Given the description of an element on the screen output the (x, y) to click on. 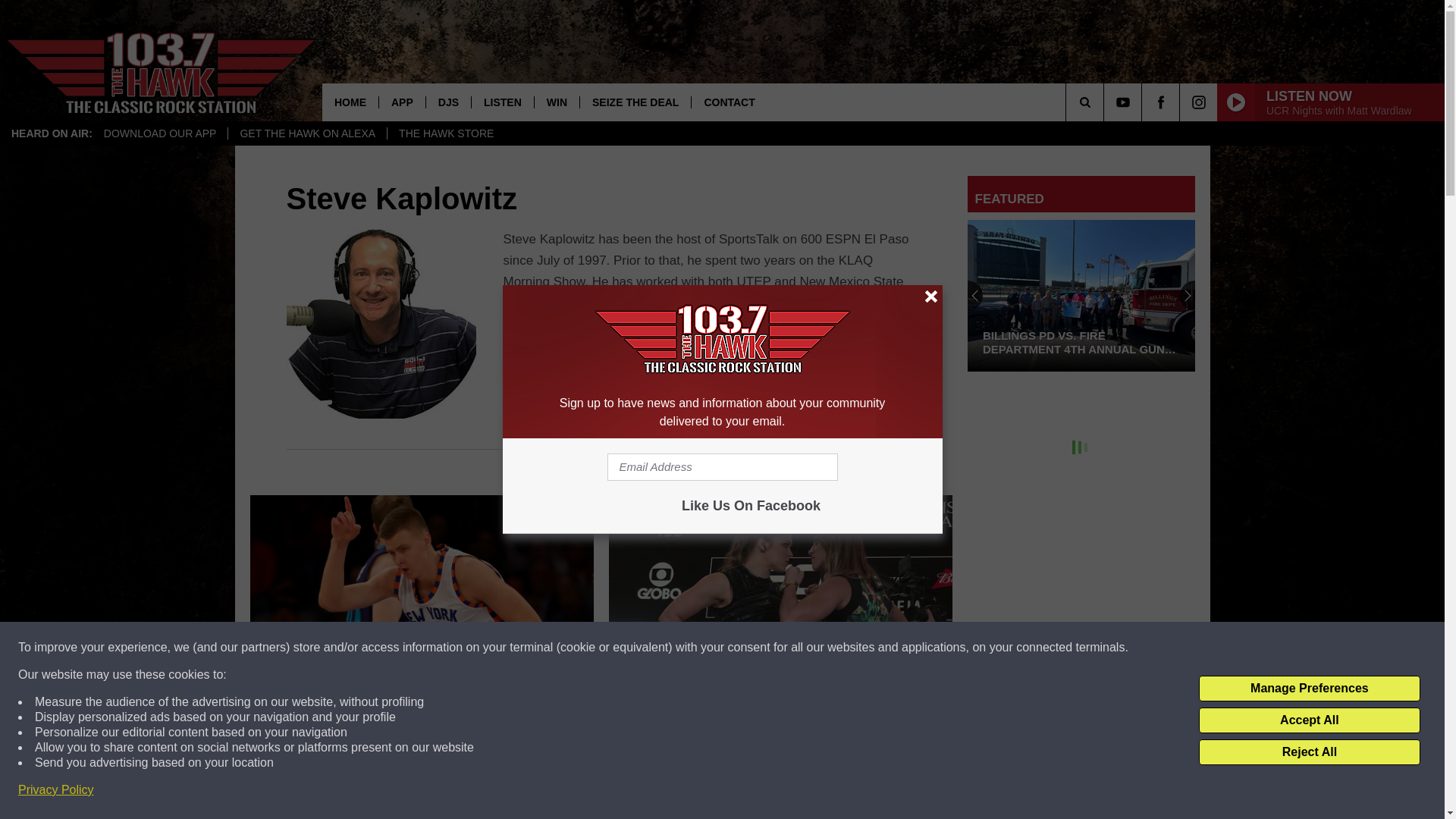
GET THE HAWK ON ALEXA (307, 133)
Manage Preferences (1309, 688)
HOME (349, 102)
APP (401, 102)
DJS (447, 102)
THE HAWK STORE (446, 133)
Reject All (1309, 751)
DOWNLOAD OUR APP (160, 133)
CONTACT (728, 102)
Privacy Policy (55, 789)
WIN (556, 102)
LISTEN (502, 102)
SEARCH (1106, 102)
SEIZE THE DEAL (634, 102)
SEARCH (1106, 102)
